Given the description of an element on the screen output the (x, y) to click on. 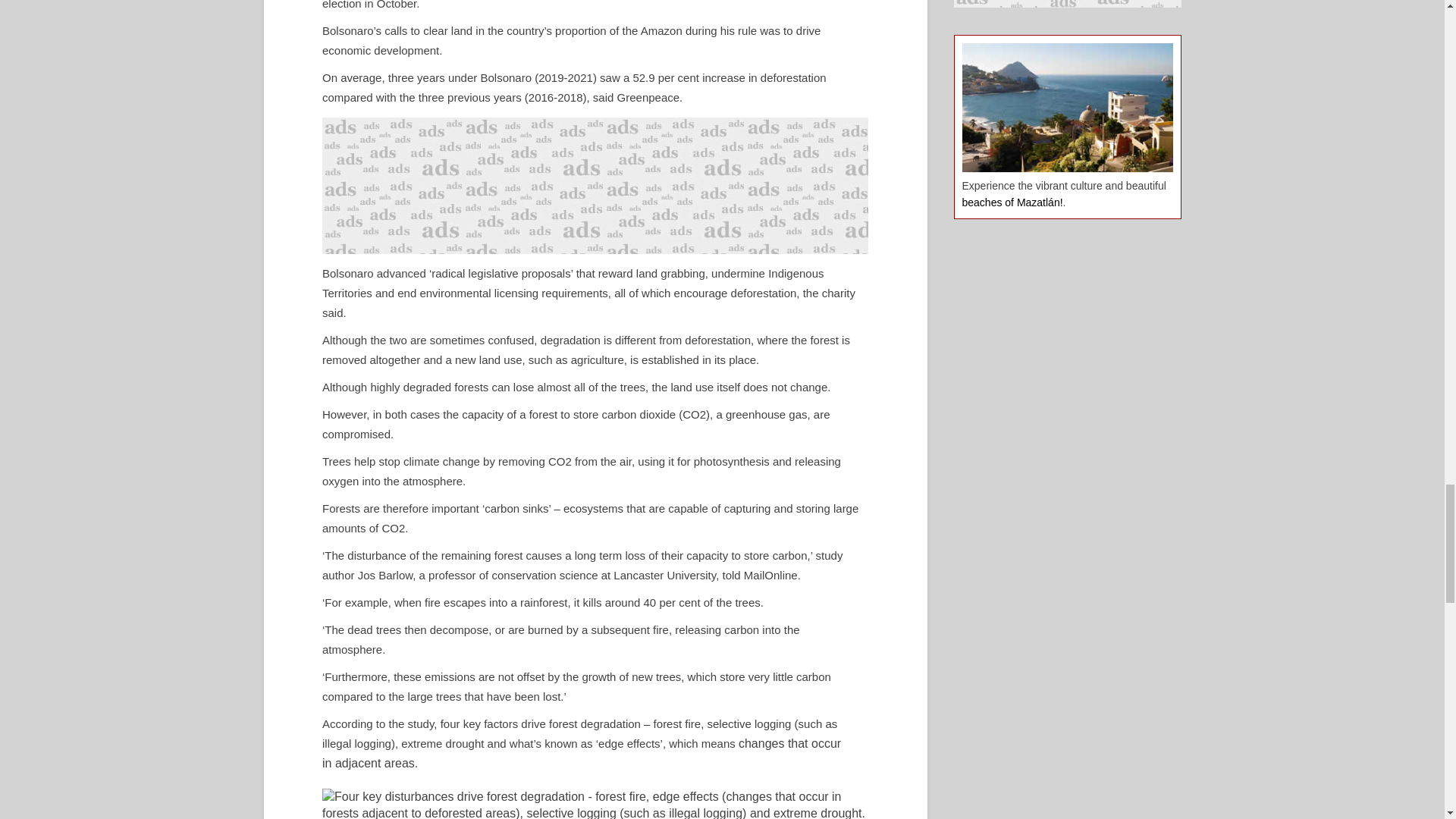
Advertisement (1066, 3)
